Given the description of an element on the screen output the (x, y) to click on. 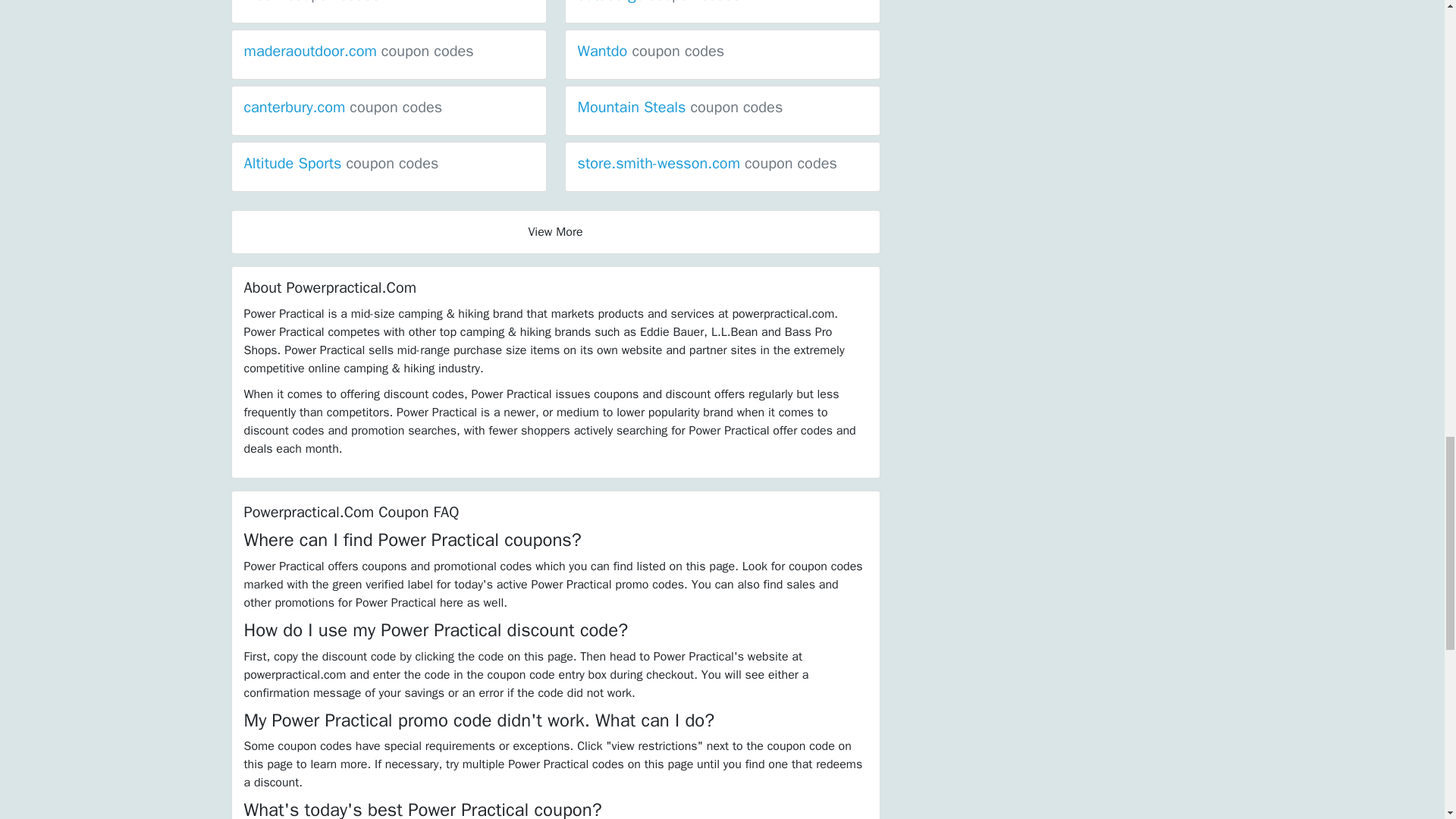
Mountain Steals coupon codes (680, 107)
Wantdo coupon codes (651, 50)
canterbury.com coupon codes (343, 107)
Woolx coupon codes (312, 2)
outdoorgb coupon codes (659, 2)
canterbury.com coupon codes (343, 107)
Woolx coupon codes (312, 2)
Altitude Sports coupon codes (341, 162)
maderaoutdoor.com coupon codes (359, 50)
outdoorgb coupon codes (659, 2)
